Given the description of an element on the screen output the (x, y) to click on. 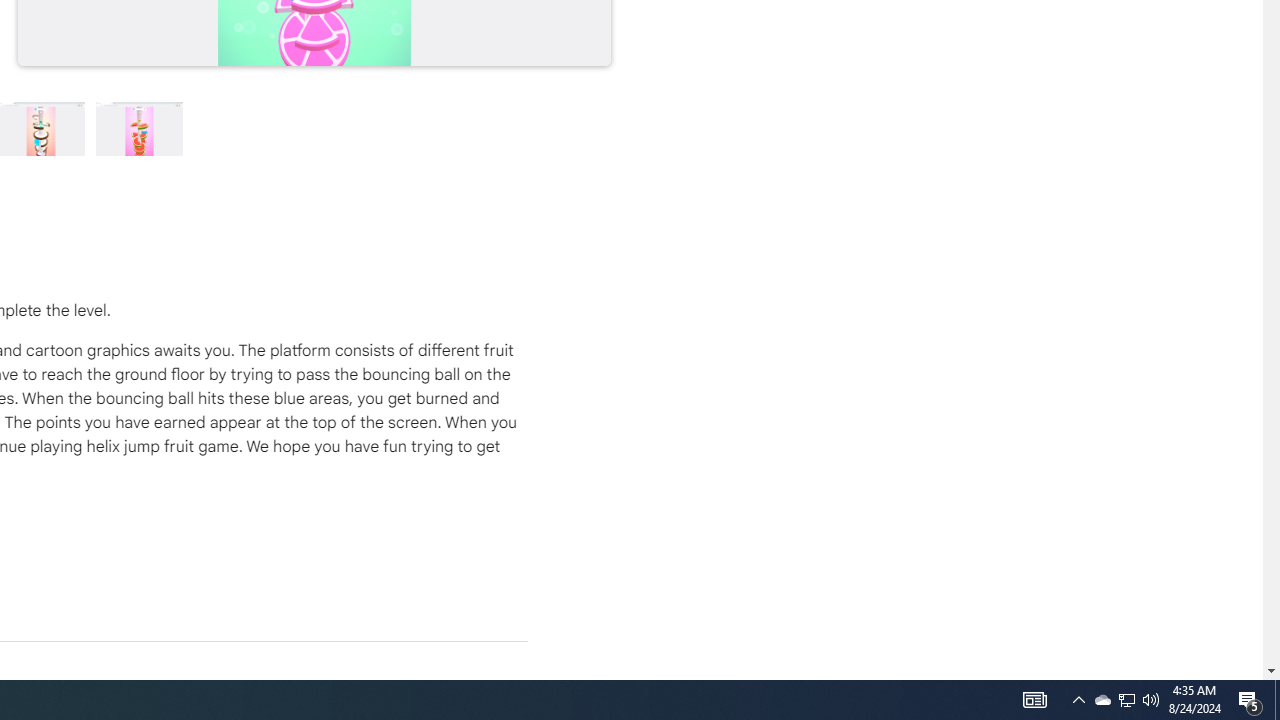
Preview slide 4 (140, 128)
